Given the description of an element on the screen output the (x, y) to click on. 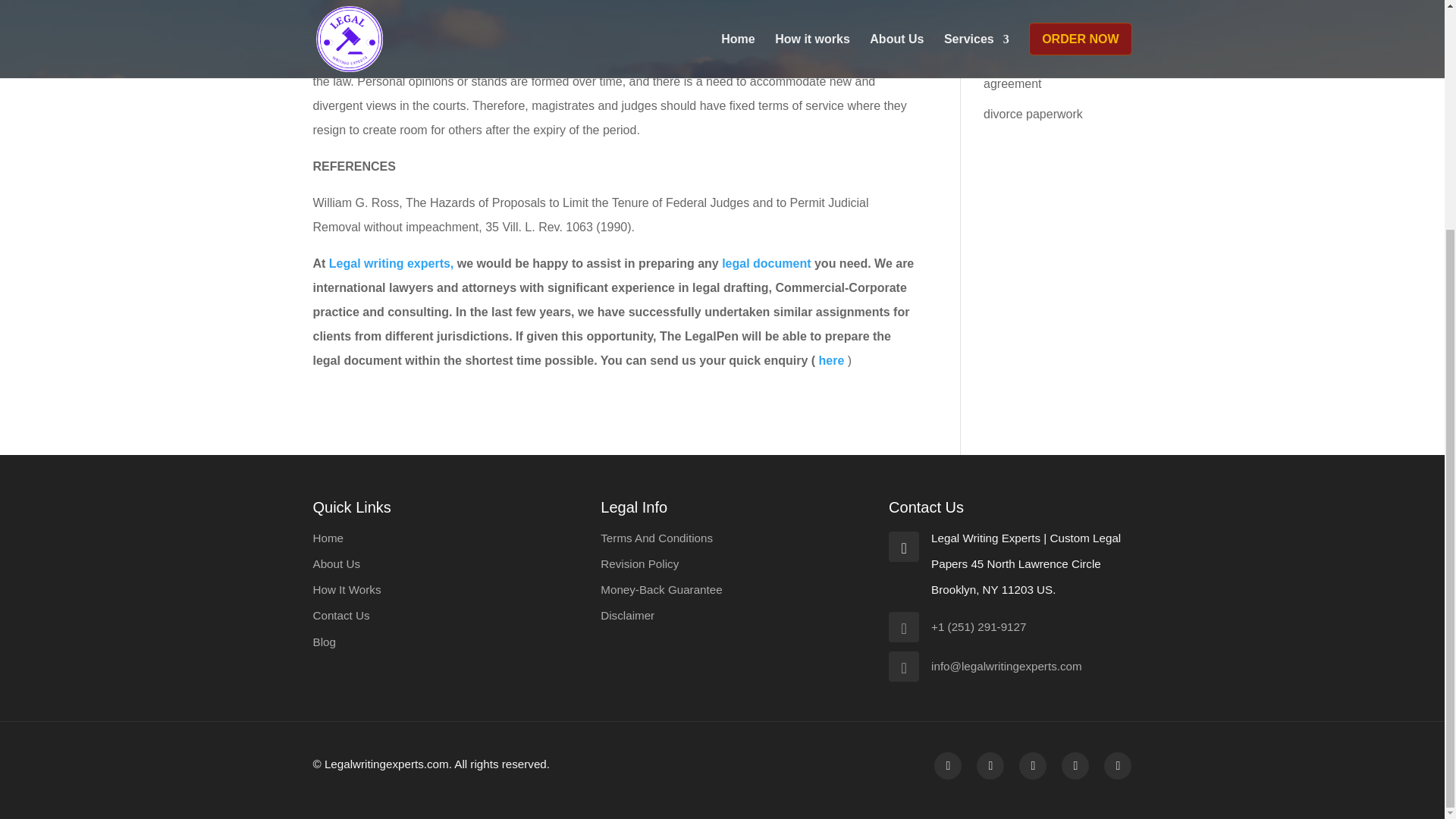
Legal writing experts, (390, 263)
Disclaimer (626, 615)
Money-Back Guarantee (660, 589)
divorce paperwork (1033, 113)
Terms And Conditions (656, 537)
Groupon merchant agreement (1034, 71)
legal document (766, 263)
How It Works (346, 589)
Home (328, 537)
Revision Policy (638, 563)
